Given the description of an element on the screen output the (x, y) to click on. 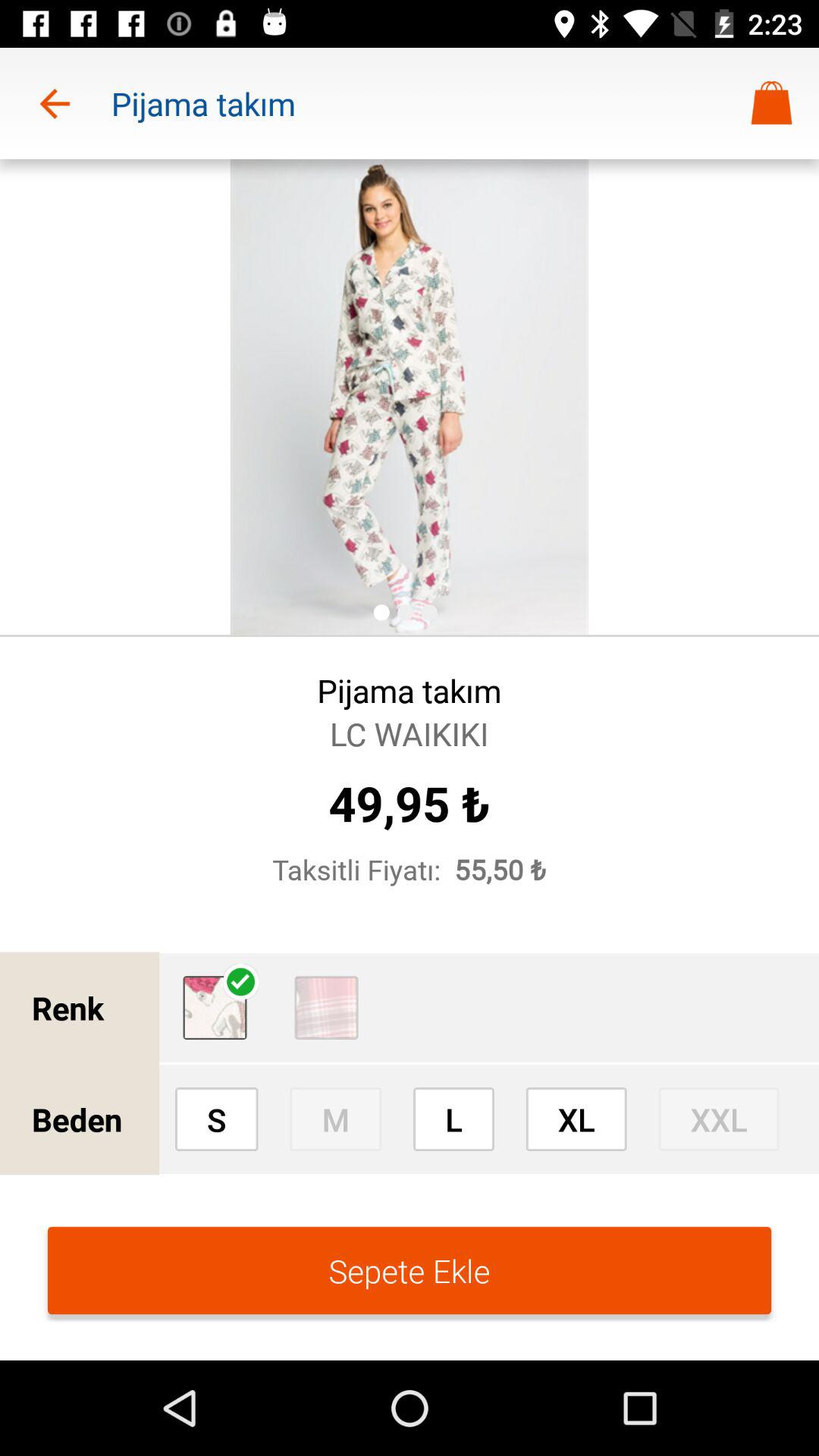
turn on l (453, 1119)
